Given the description of an element on the screen output the (x, y) to click on. 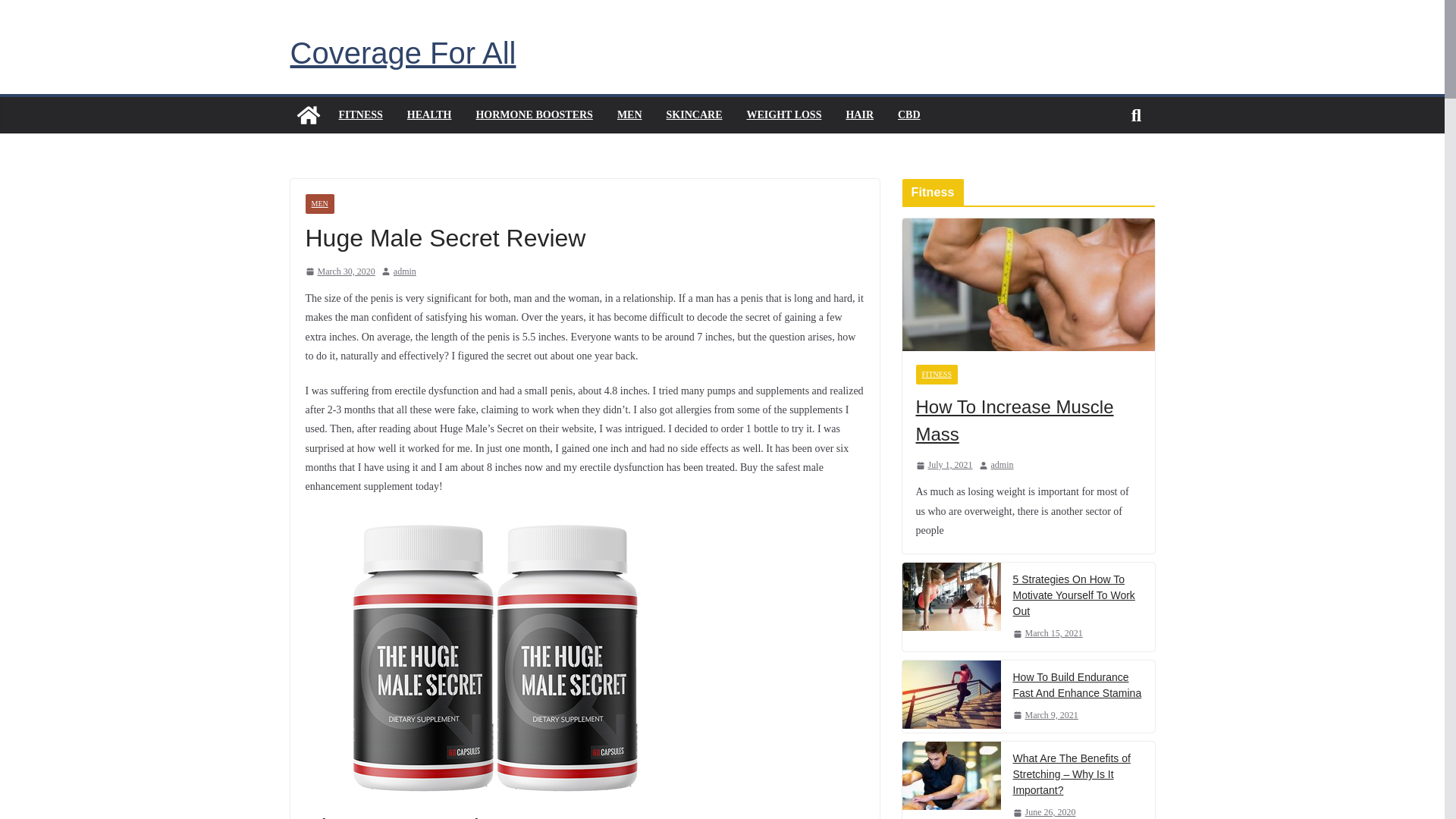
HEALTH (429, 115)
admin (404, 271)
March 30, 2020 (339, 271)
MEN (318, 203)
CBD (909, 115)
WEIGHT LOSS (783, 115)
Coverage For All (402, 52)
Coverage For All (402, 52)
HAIR (859, 115)
FITNESS (936, 374)
admin (404, 271)
Coverage For All (307, 115)
11:24 am (339, 271)
FITNESS (359, 115)
SKINCARE (694, 115)
